Given the description of an element on the screen output the (x, y) to click on. 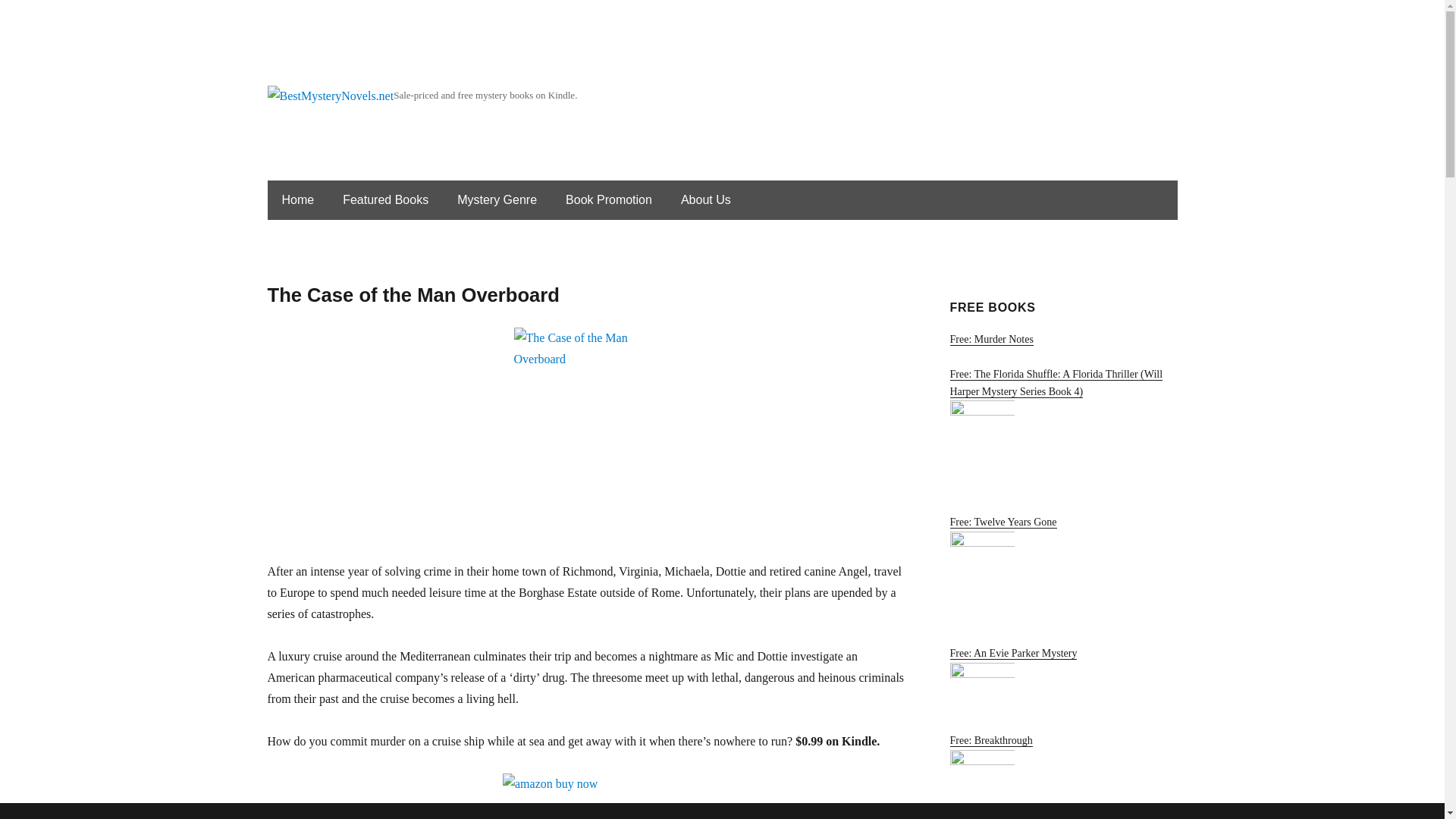
Free: An Evie Parker Mystery (1062, 680)
Home (297, 200)
Free: Twelve Years Gone (1062, 572)
Free: Breakthrough (1062, 776)
Mystery Genre (496, 200)
Featured Books (385, 200)
About Us (705, 200)
Free: Murder Notes (1062, 341)
Book Promotion (608, 200)
